Given the description of an element on the screen output the (x, y) to click on. 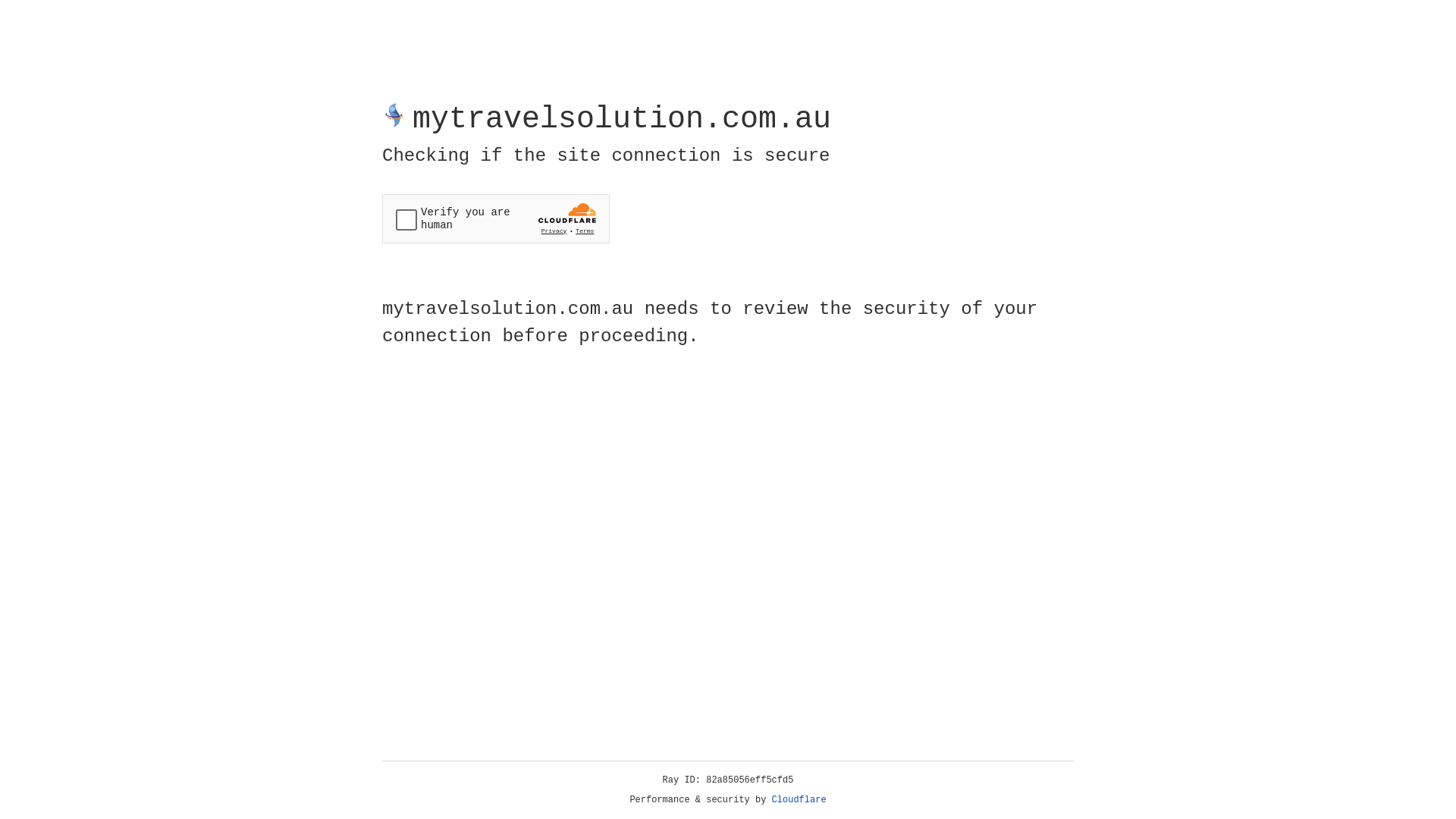
Cloudflare Element type: text (798, 799)
Widget containing a Cloudflare security challenge Element type: hover (495, 218)
